Given the description of an element on the screen output the (x, y) to click on. 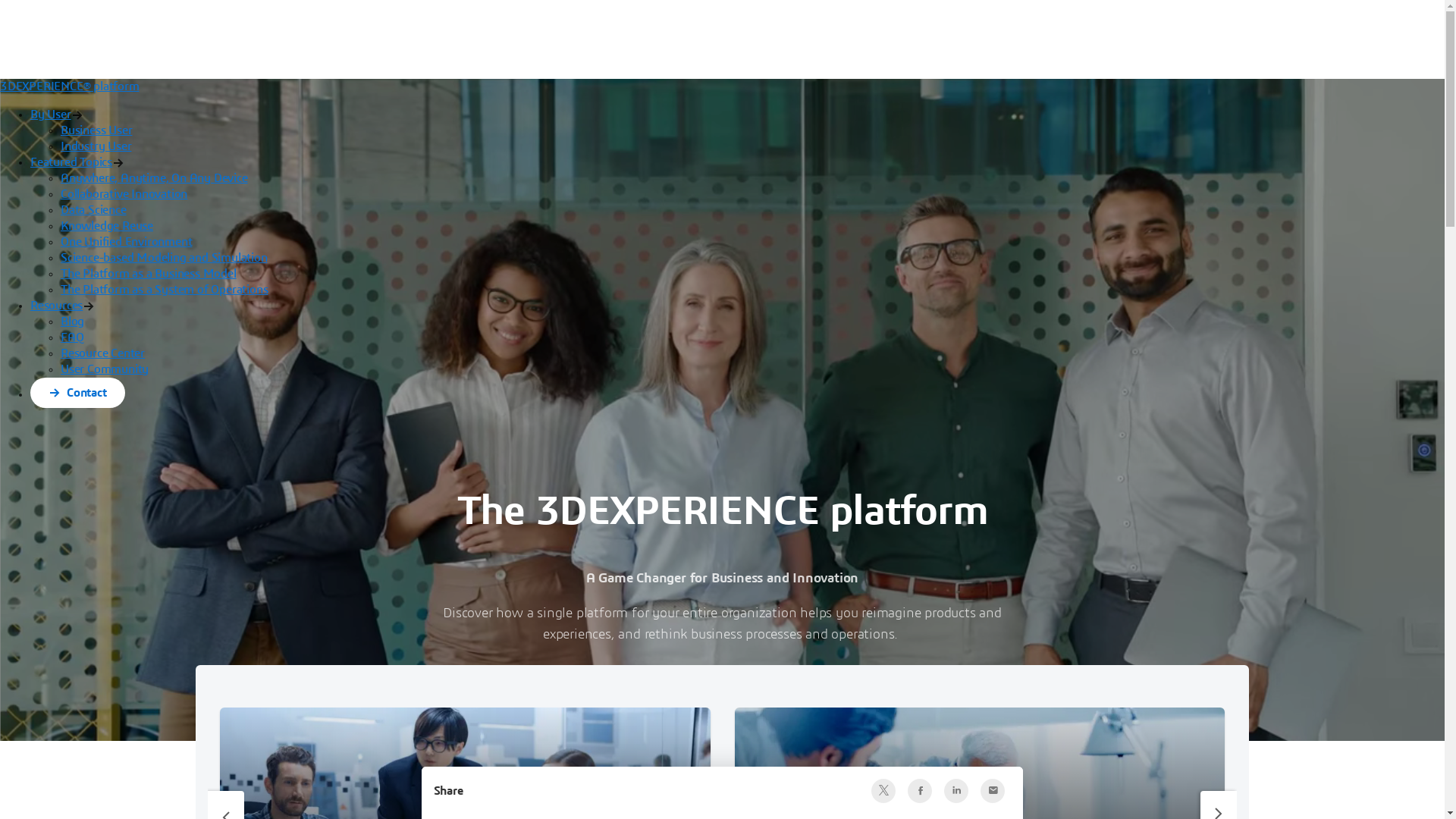
linkedin Element type: text (956, 790)
Resource Center Element type: text (102, 353)
User Community Element type: text (104, 369)
Science-based Modeling and Simulation Element type: text (163, 257)
Resources Element type: text (56, 305)
Blog Element type: text (72, 321)
By User Element type: text (50, 114)
Anywhere, Anytime, On Any Device Element type: text (153, 178)
Data Science Element type: text (93, 209)
Featured Topics Element type: text (71, 162)
Collaborative Innovation Element type: text (123, 194)
Contact Element type: text (77, 394)
The Platform as a System of Operations Element type: text (163, 289)
Industry User Element type: text (95, 146)
Business User Element type: text (95, 130)
The Platform as a Business Model Element type: text (148, 273)
mailto Element type: text (992, 790)
twitter Element type: text (883, 790)
Knowledge Reuse Element type: text (106, 225)
FAQ Element type: text (71, 337)
facebook Element type: text (919, 790)
One Unified Environment Element type: text (125, 241)
